Given the description of an element on the screen output the (x, y) to click on. 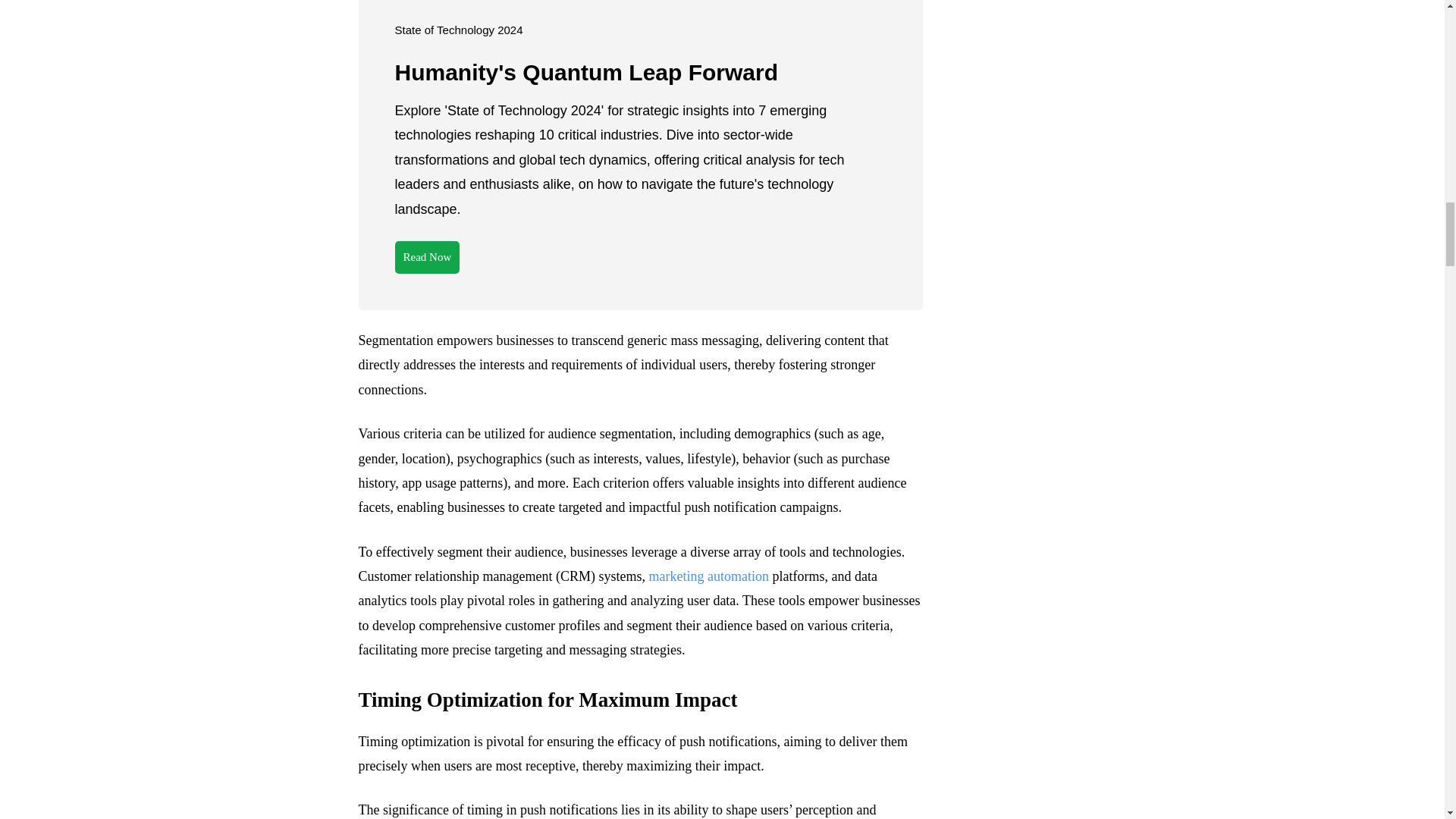
marketing automation (707, 575)
